Given the description of an element on the screen output the (x, y) to click on. 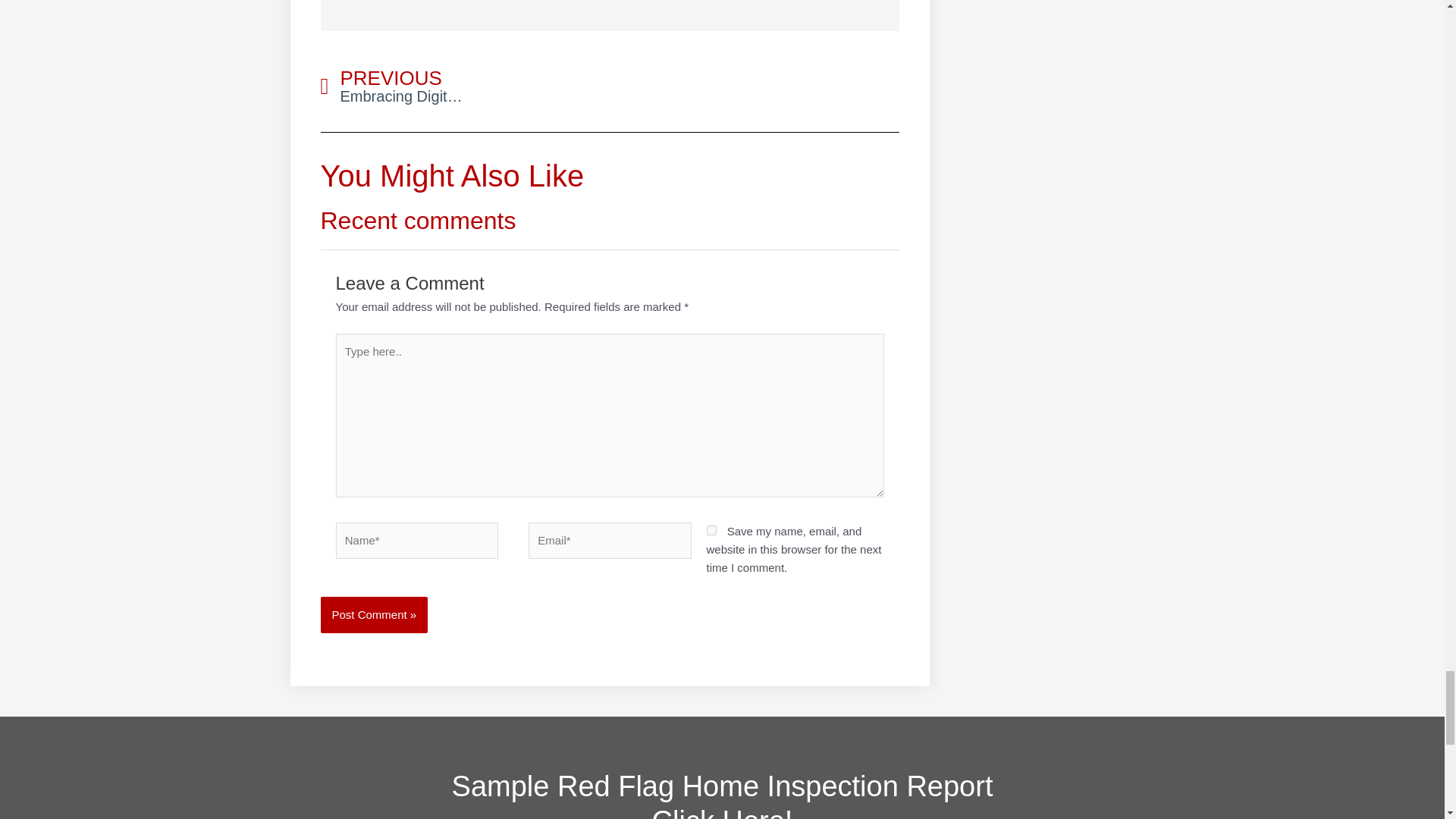
yes (711, 530)
